Given the description of an element on the screen output the (x, y) to click on. 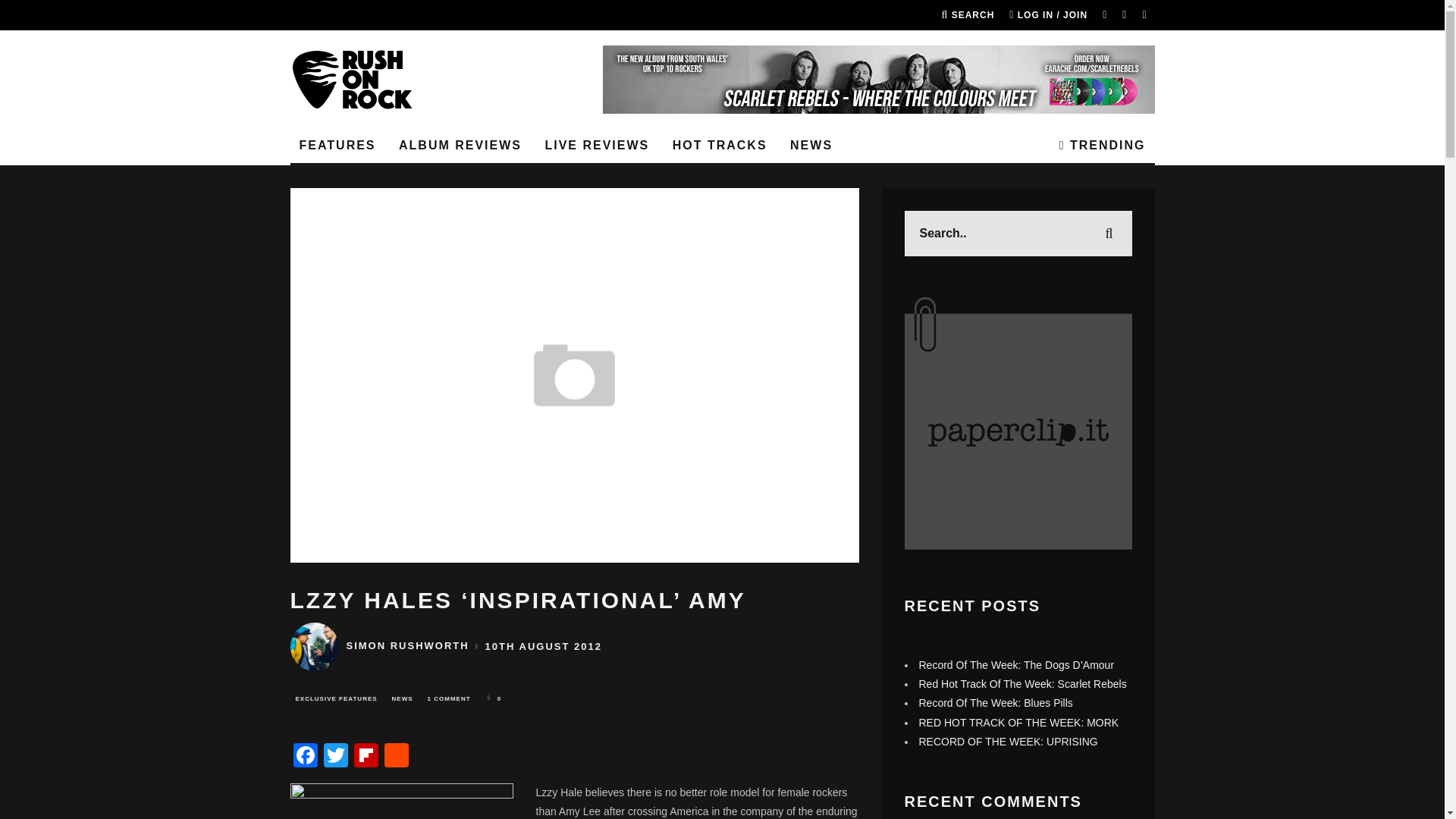
View all posts in News (403, 699)
Log In (721, 409)
View all posts in EXCLUSIVE FEATURES (335, 699)
Search (968, 15)
LIVE REVIEWS (596, 145)
Reddit (395, 756)
Twitter (335, 756)
HALESTORM 2012 1 (400, 800)
FEATURES (336, 145)
Facebook (304, 756)
